Given the description of an element on the screen output the (x, y) to click on. 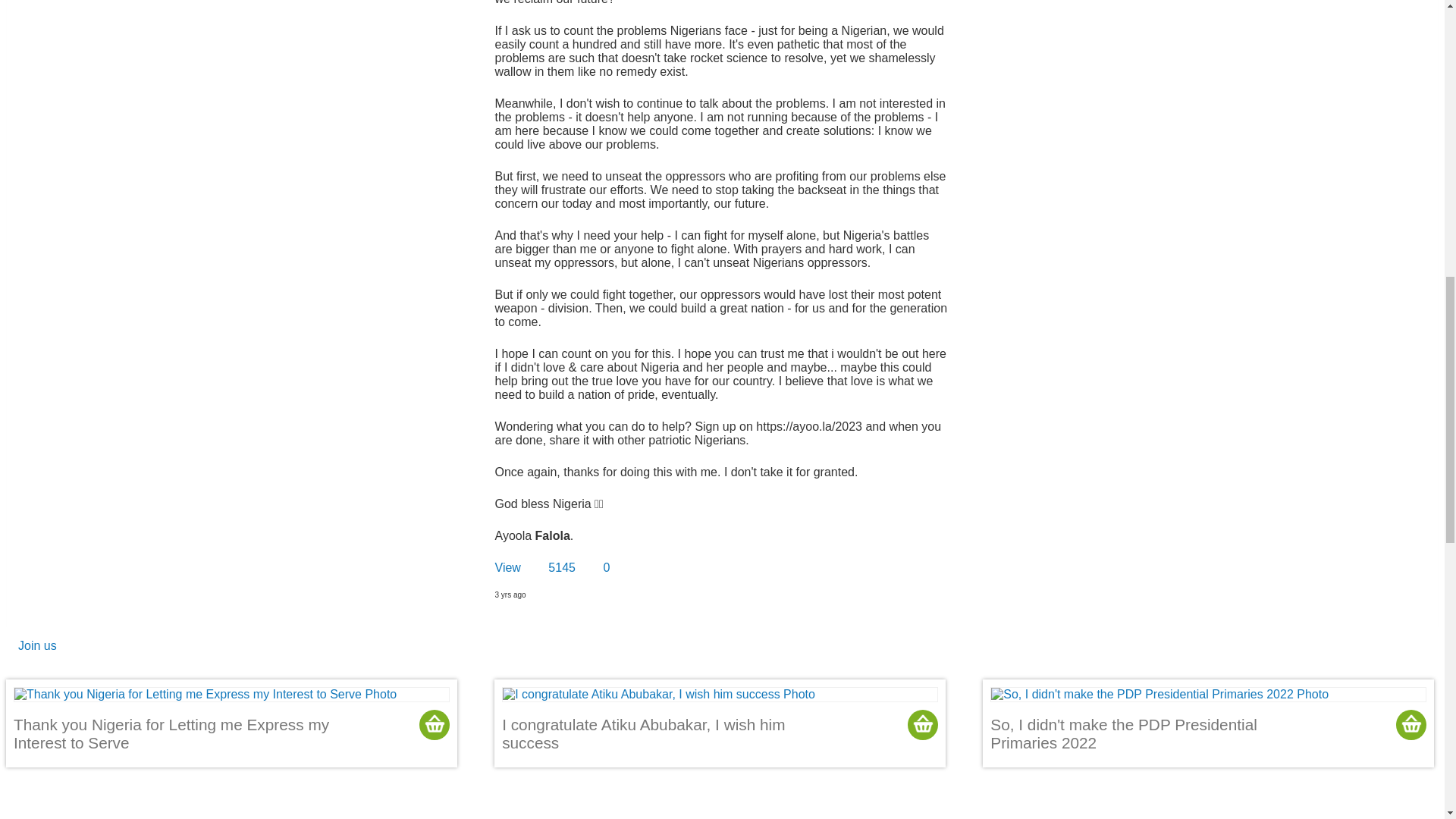
I congratulate Atiku Abubakar, I wish him success (719, 723)
View 5145 0 (552, 567)
